Given the description of an element on the screen output the (x, y) to click on. 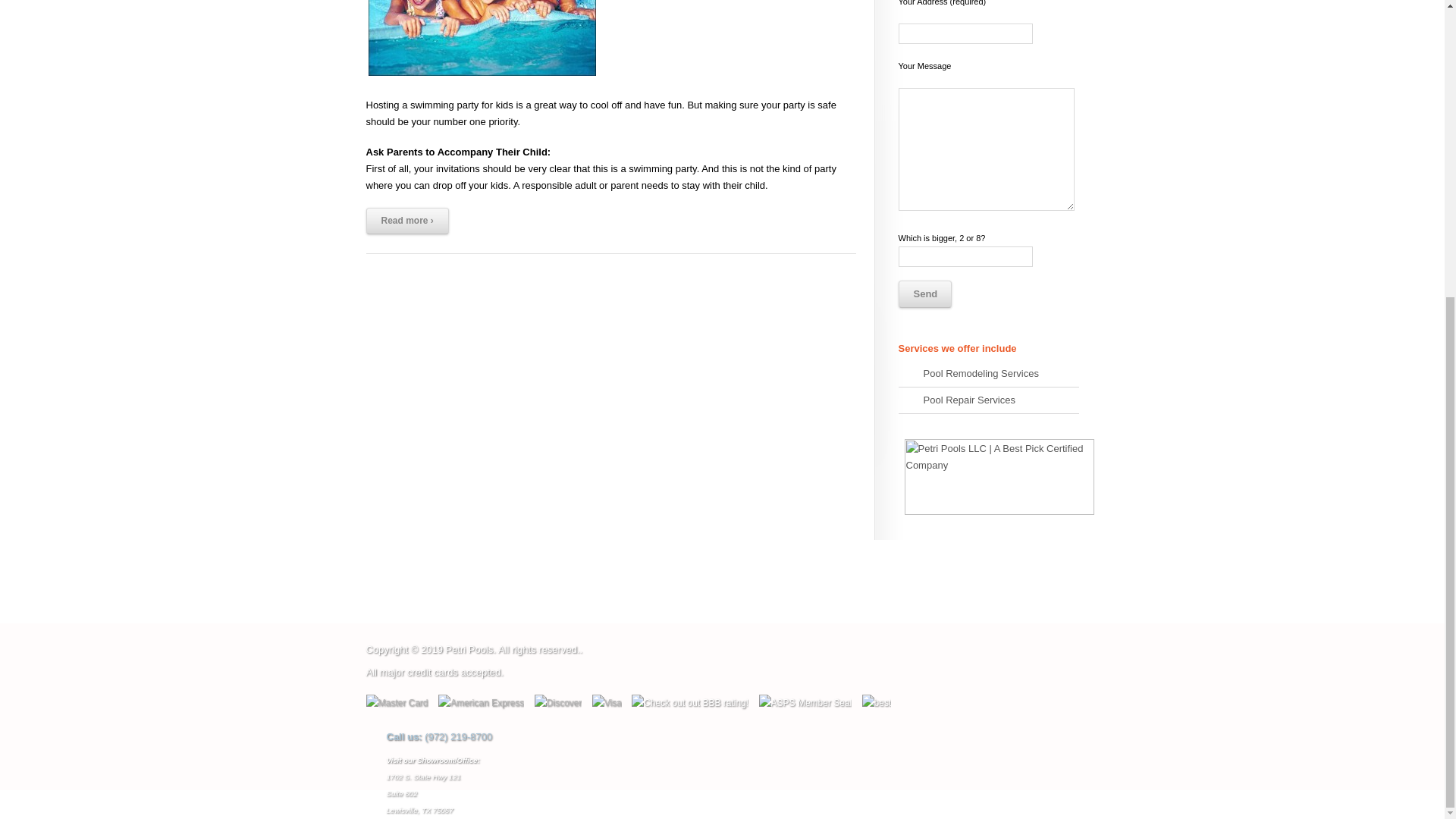
Pool Repair Services (988, 400)
Pool Remodeling Services (988, 374)
Send (924, 293)
kids-at-pool (480, 38)
ASPS (804, 702)
ASPS Member Seal (804, 702)
Pool Repair Services (988, 400)
Send (924, 293)
Pool Remodeling Services (988, 374)
